Given the description of an element on the screen output the (x, y) to click on. 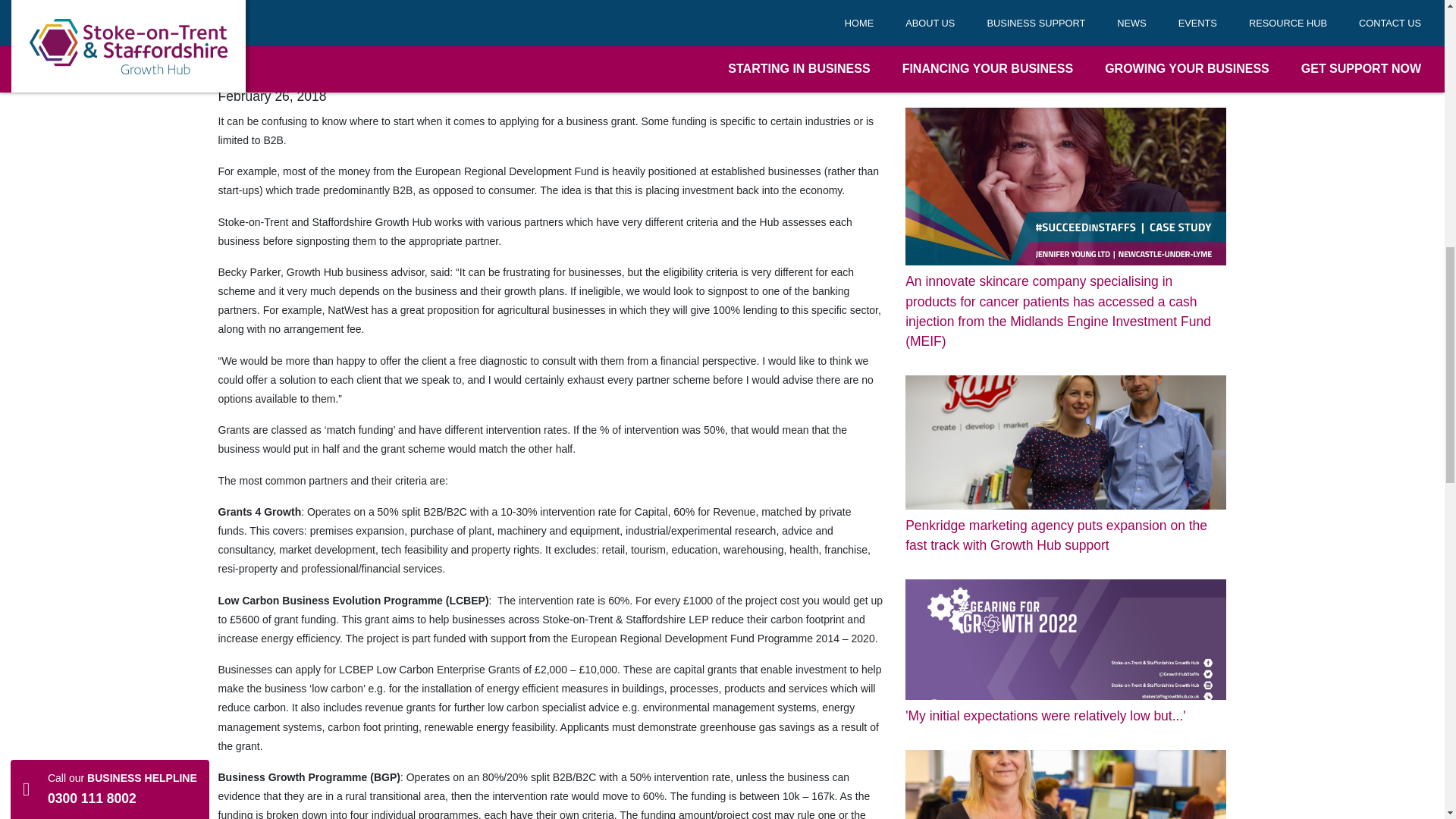
'My initial expectations were relatively low but...' (1065, 652)
Growth Hub support puts mental wellbeing in the spotlight (1065, 784)
